Given the description of an element on the screen output the (x, y) to click on. 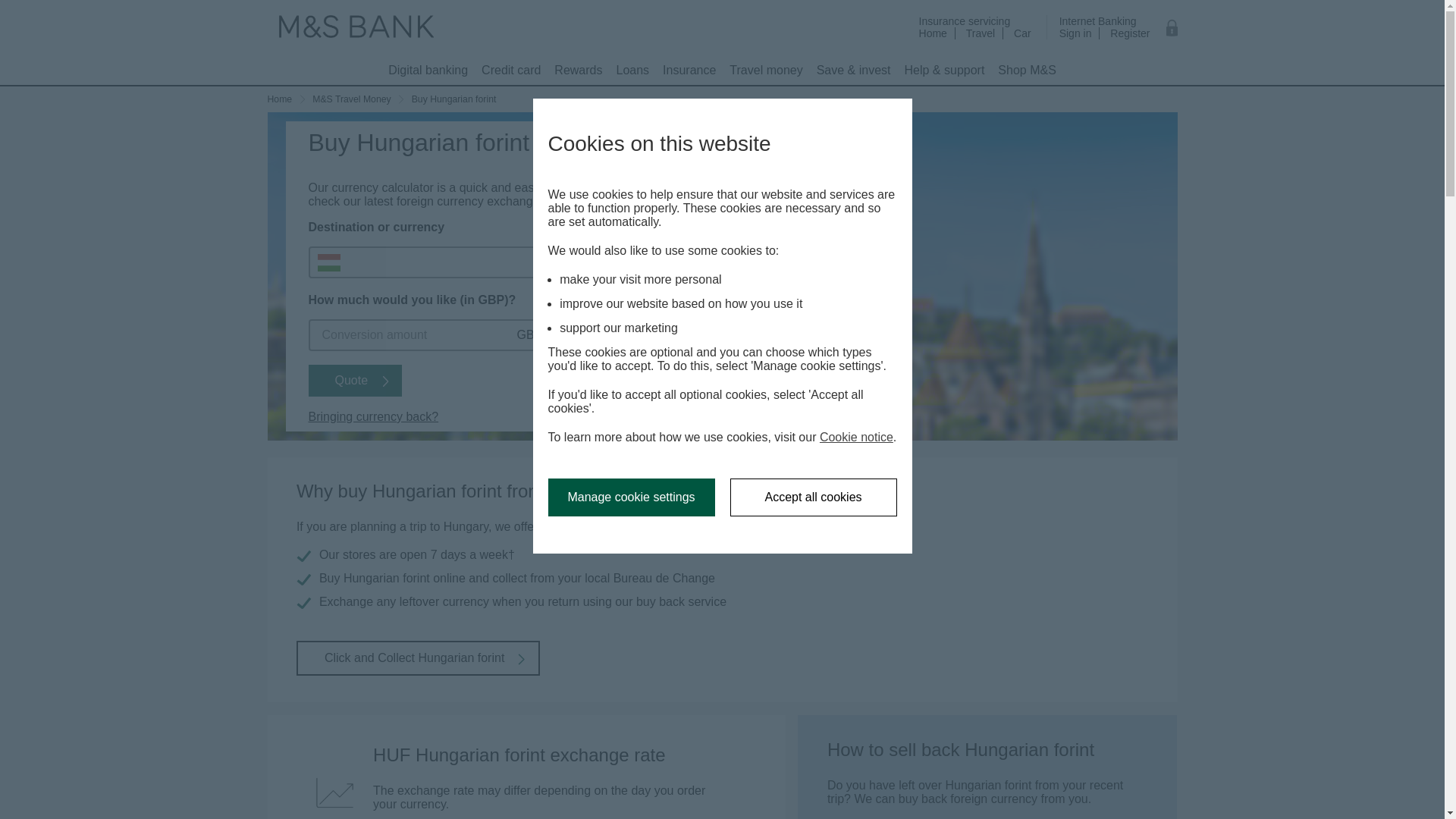
Register for Internet Banking (1129, 33)
Home (286, 99)
Sign in to Internet Banking (1075, 33)
Bringing currency back? (378, 416)
Insurance (689, 70)
Currency amount in GBP (459, 335)
Digital banking (556, 335)
Click and Collect Hungarian forint (427, 70)
